Given the description of an element on the screen output the (x, y) to click on. 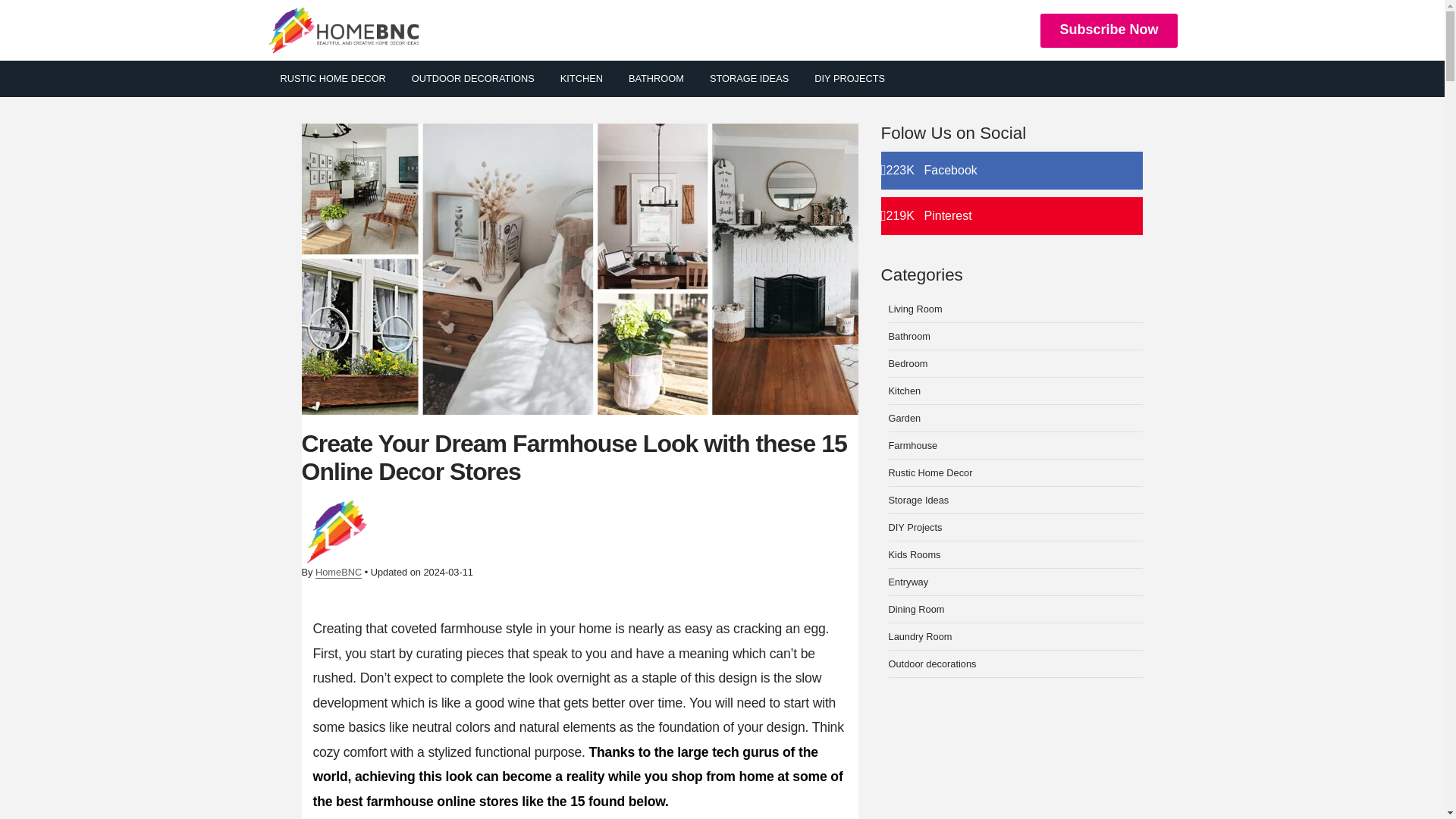
Living Room (915, 308)
DIY PROJECTS (850, 78)
Rustic Home Decor (930, 472)
Farmhouse (912, 445)
KITCHEN (1011, 170)
Garden (581, 78)
Storage Ideas (904, 418)
Bedroom (918, 500)
RUSTIC HOME DECOR (908, 363)
